Given the description of an element on the screen output the (x, y) to click on. 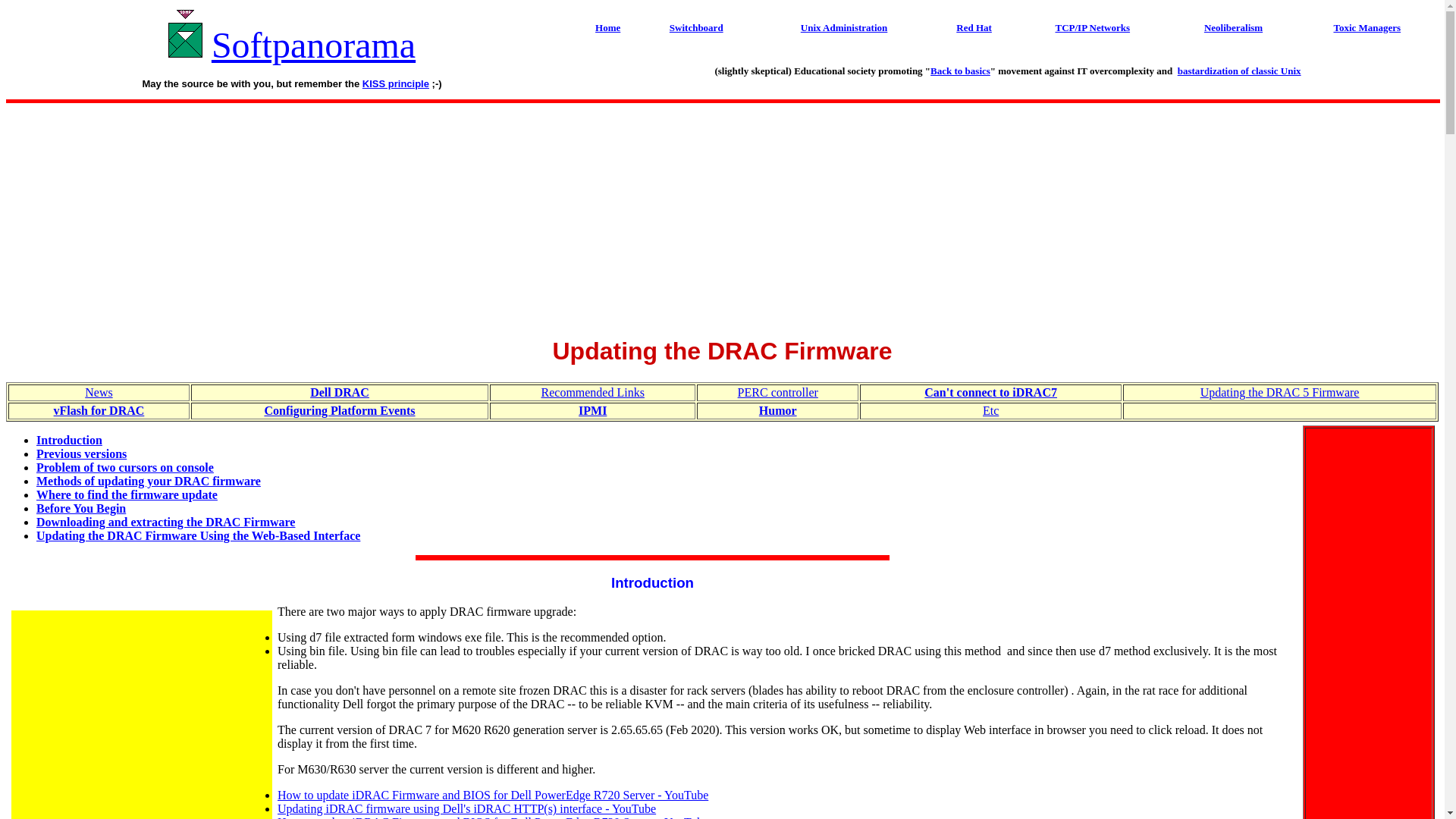
IPMI (592, 410)
Softpanorama (312, 45)
Humor (777, 410)
Introduction (652, 582)
Red Hat (973, 26)
Configuring Platform Events (338, 410)
Toxic Managers (1366, 26)
Updating the DRAC 5 Firmware (1279, 391)
Where to find the firmware update (126, 494)
